Given the description of an element on the screen output the (x, y) to click on. 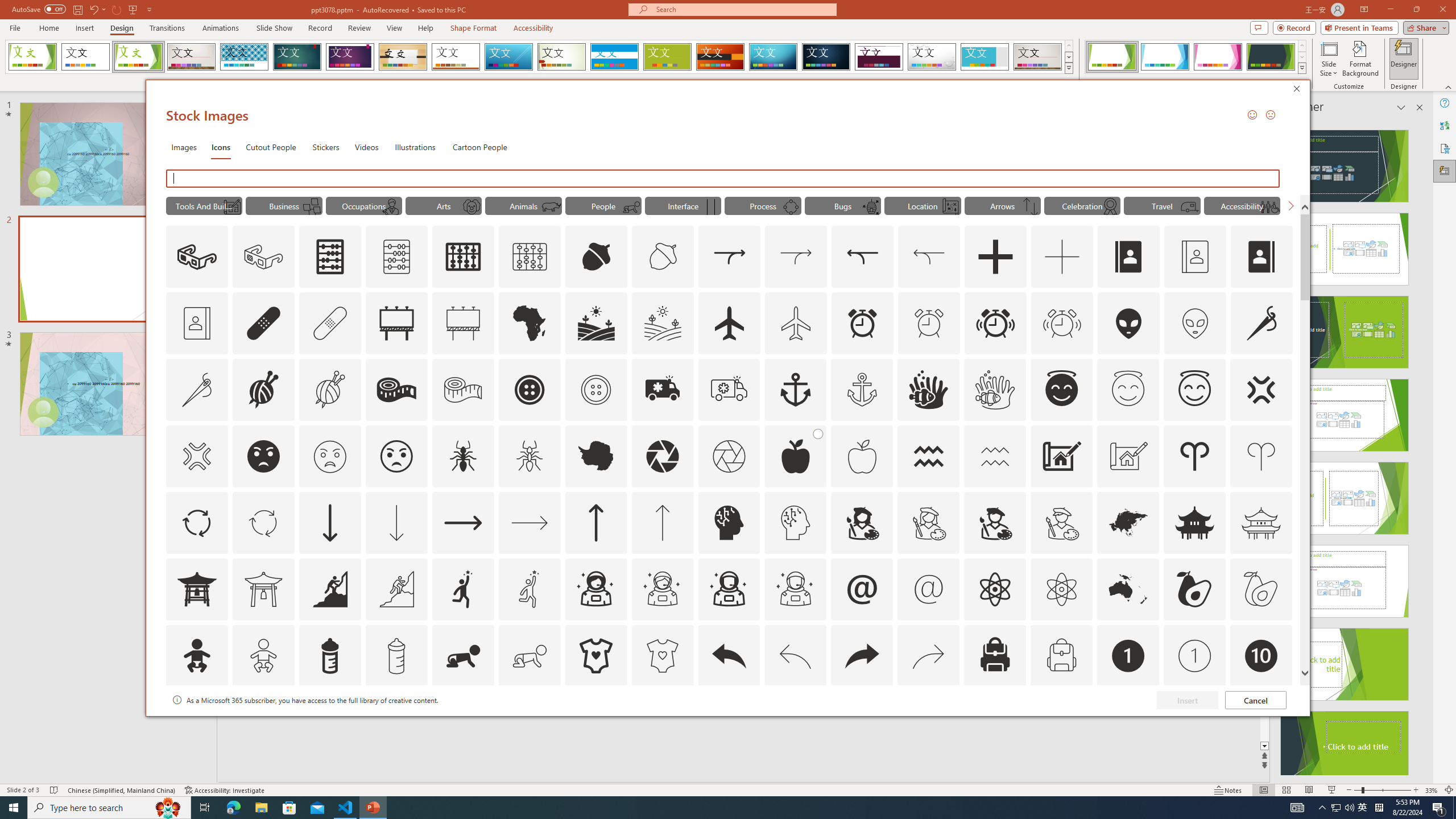
AutomationID: Icons_At_M (928, 588)
AutomationID: Icons_JudgeMale_M (391, 206)
Droplet (931, 56)
"Animals" Icons. (523, 205)
AutomationID: Icons_Advertising (397, 323)
AutomationID: Icons_ArrowDown_M (395, 522)
AutomationID: Icons_Rhino_M (551, 206)
